Given the description of an element on the screen output the (x, y) to click on. 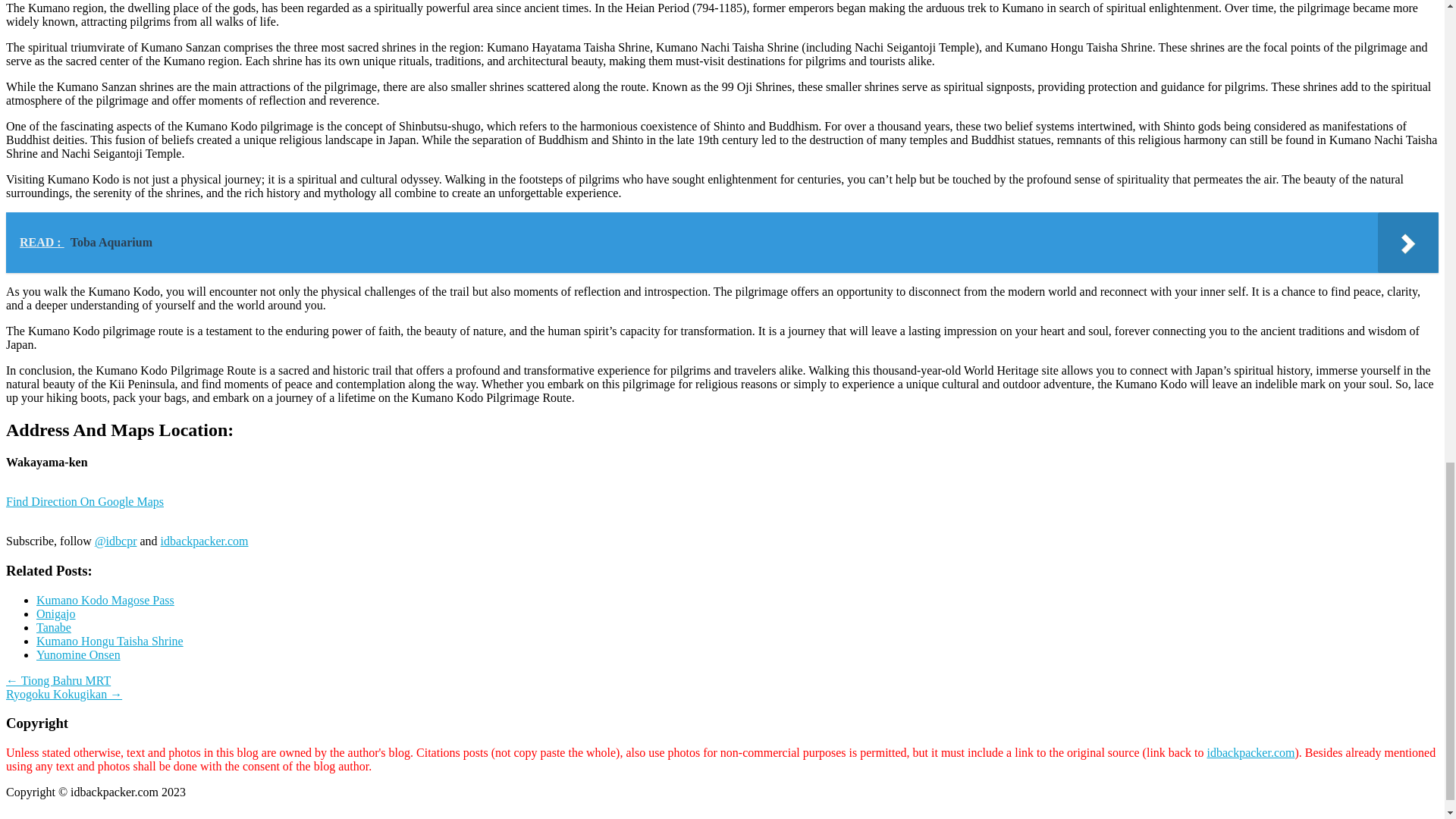
Kumano Kodo Magose Pass (105, 599)
Yunomine Onsen (78, 654)
Tanabe (53, 626)
idbackpacker.com (204, 540)
Kumano Hongu Taisha Shrine (109, 640)
Onigajo (55, 613)
Find Direction On Google Maps (84, 508)
idbackpacker.com (1250, 752)
